Given the description of an element on the screen output the (x, y) to click on. 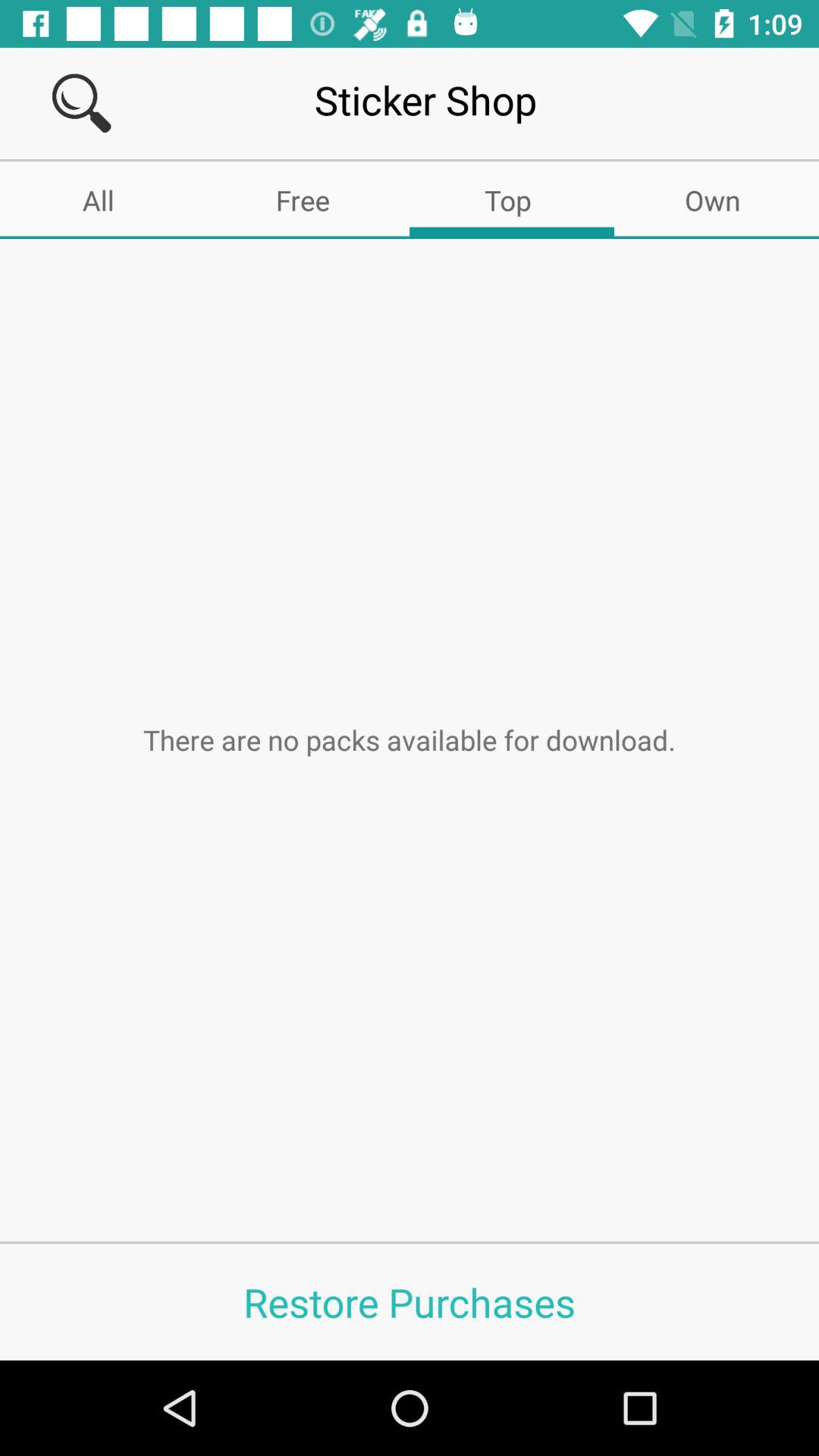
search (81, 103)
